Given the description of an element on the screen output the (x, y) to click on. 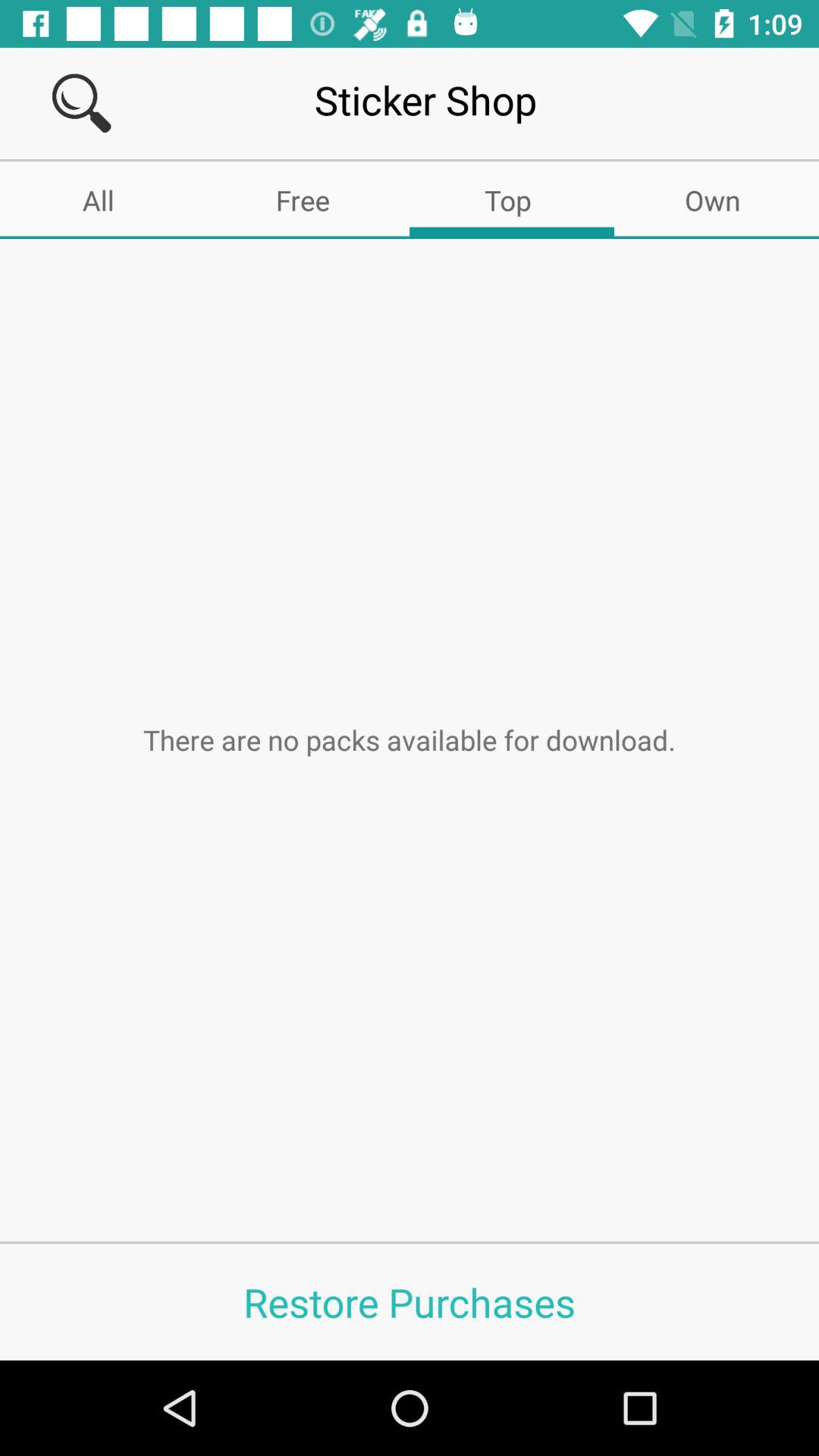
search (81, 103)
